Given the description of an element on the screen output the (x, y) to click on. 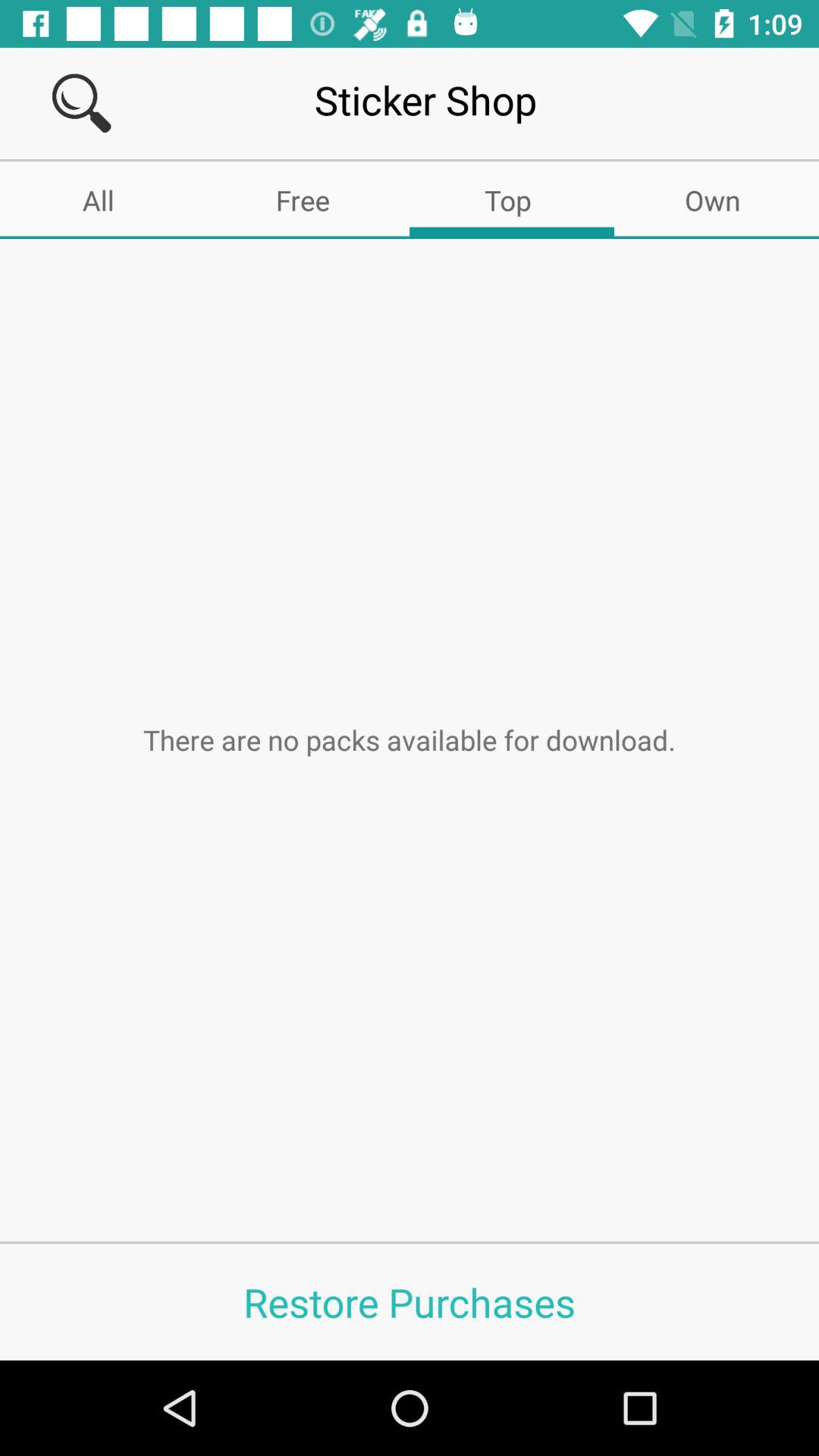
search (81, 103)
